Given the description of an element on the screen output the (x, y) to click on. 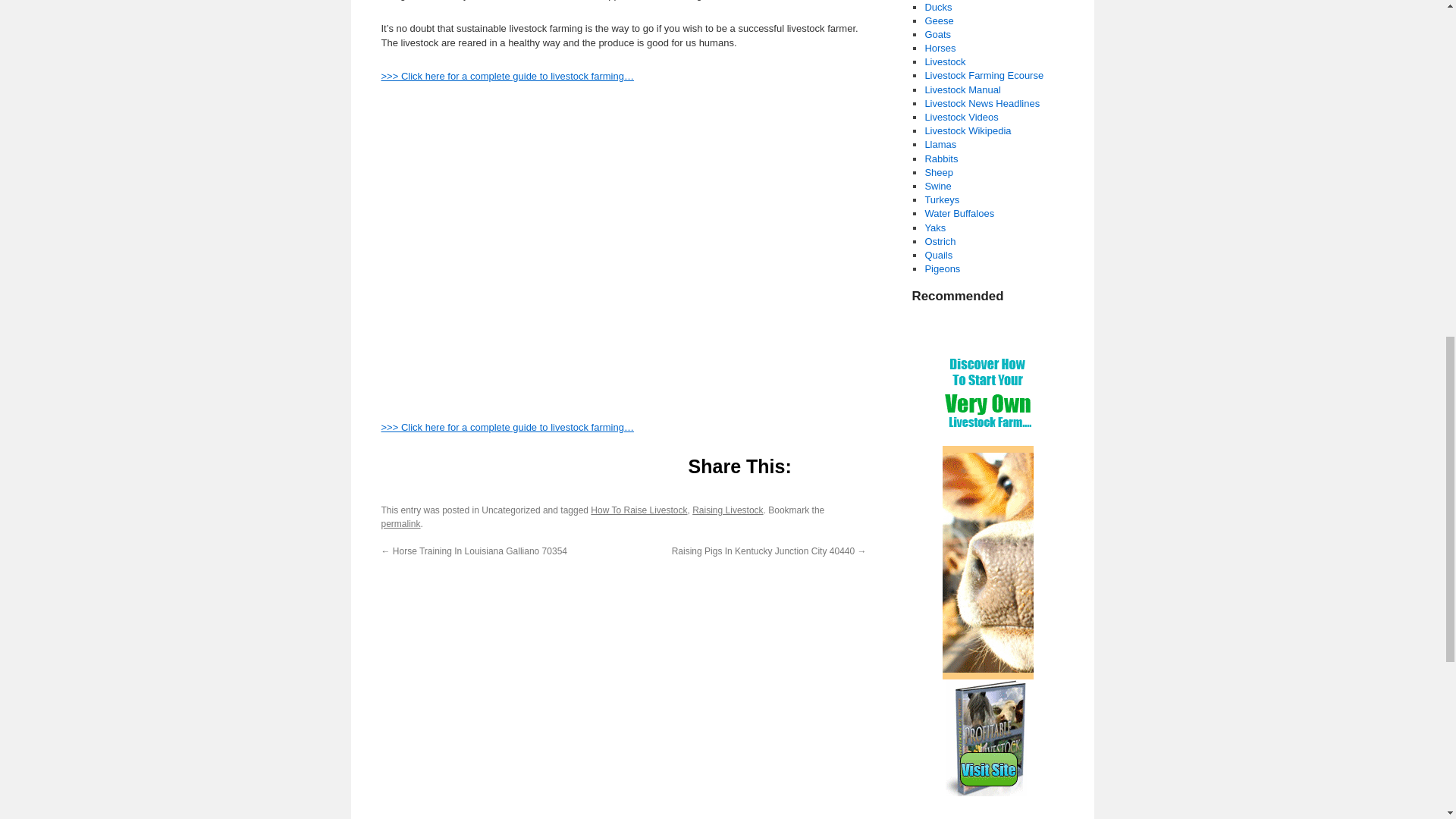
permalink (400, 523)
Raising Livestock (727, 510)
How To Raise Livestock (639, 510)
